Given the description of an element on the screen output the (x, y) to click on. 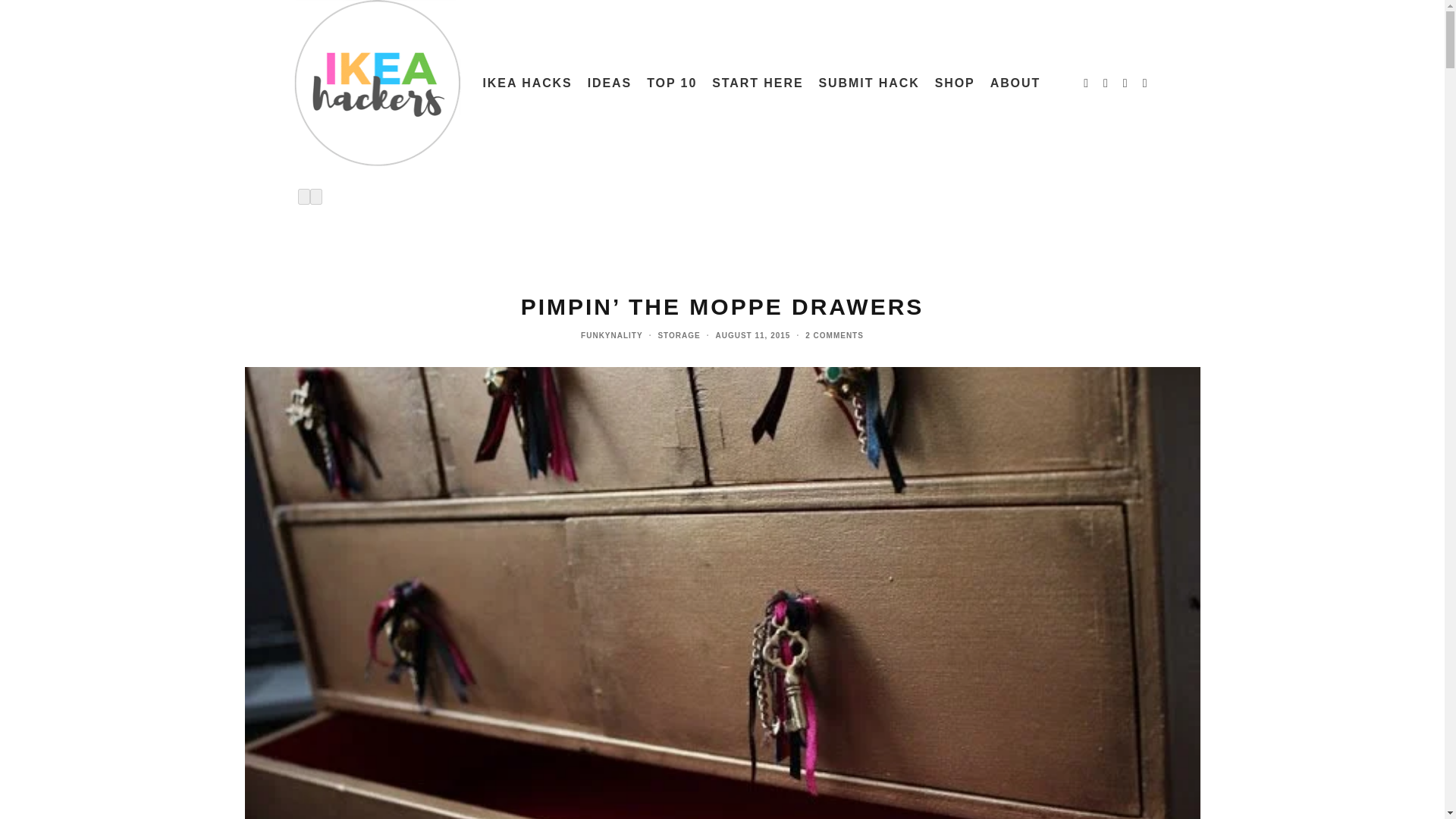
IKEA Hacks by Categories (526, 83)
ABOUT (1015, 83)
2 COMMENTS (834, 335)
Hack of the Year (671, 83)
SHOP (954, 83)
IKEA HACKS (526, 83)
SUBMIT HACK (868, 83)
IKEA Ideas by Categories (609, 83)
TOP 10 (671, 83)
How to send in your hack (868, 83)
IDEAS (609, 83)
START HERE (757, 83)
FUNKYNALITY (611, 335)
STORAGE (679, 335)
